Given the description of an element on the screen output the (x, y) to click on. 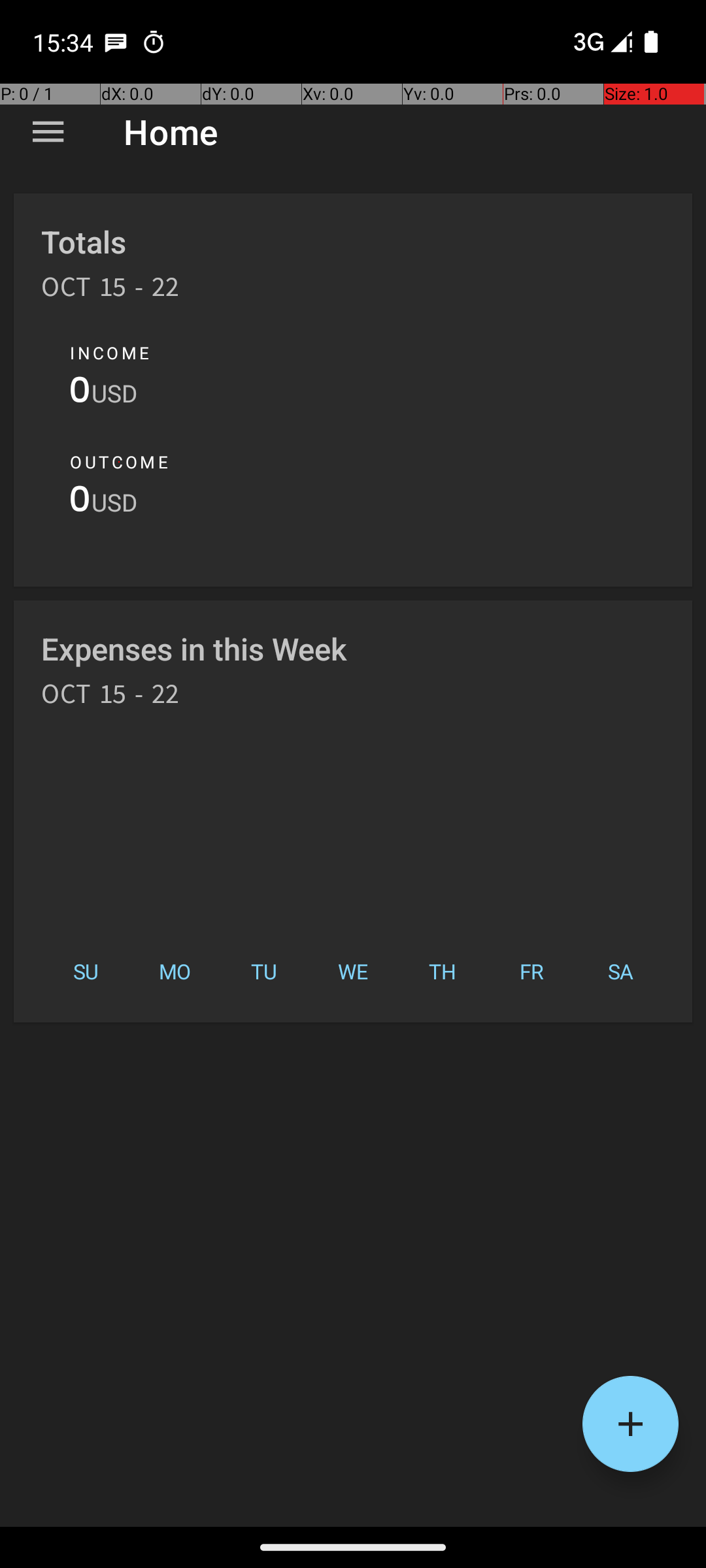
SMS Messenger notification: Amir dos Santos Element type: android.widget.ImageView (115, 41)
